Given the description of an element on the screen output the (x, y) to click on. 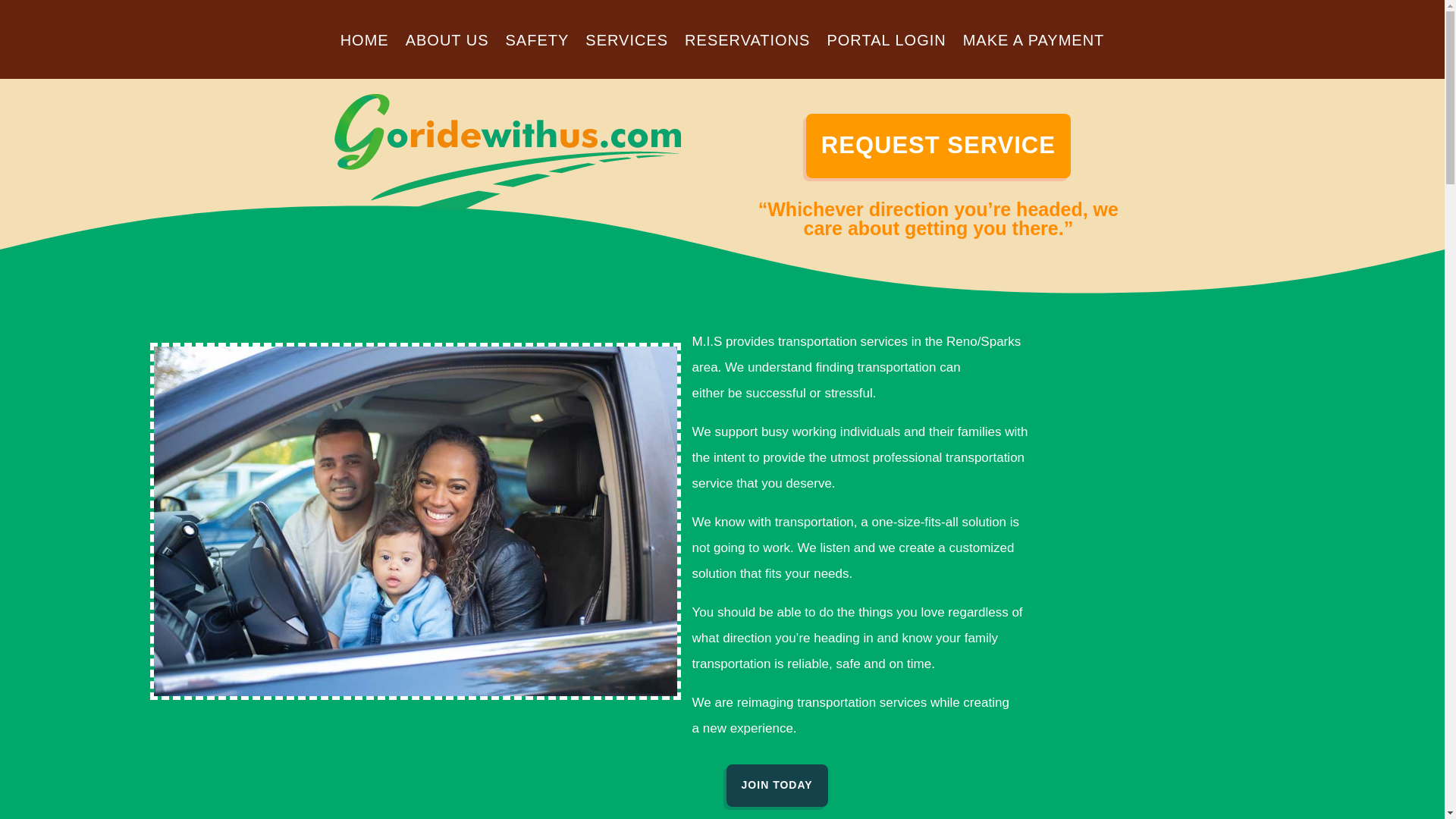
SERVICES (626, 43)
PORTAL LOGIN (885, 43)
GO-RIDE-WITH-US-LOGO (502, 148)
REQUEST SERVICE (938, 145)
JOIN TODAY (777, 785)
ABOUT US (447, 43)
HOME (364, 43)
SAFETY (537, 43)
MAKE A PAYMENT (1033, 43)
RESERVATIONS (746, 43)
